Given the description of an element on the screen output the (x, y) to click on. 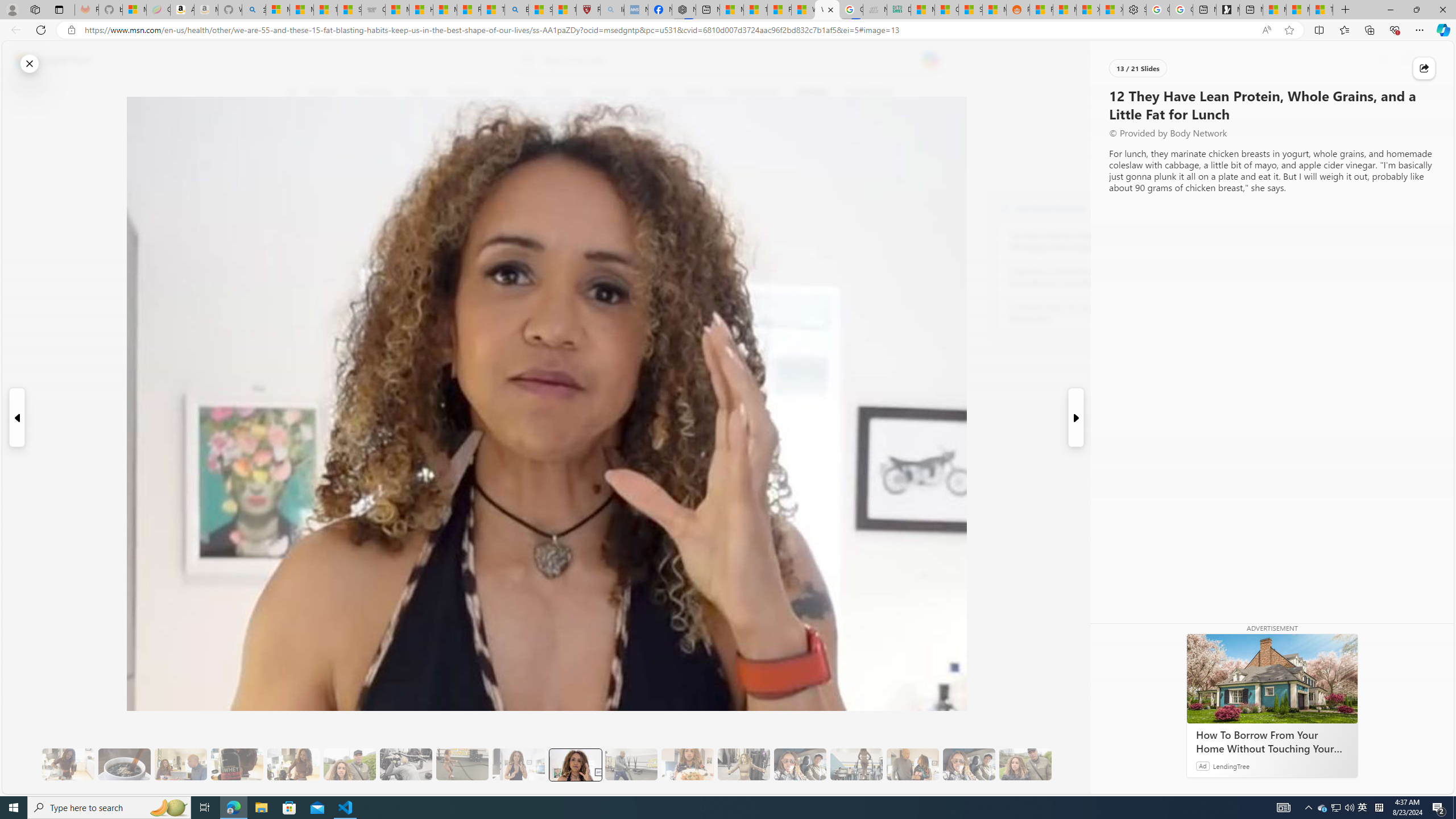
18 It's More Fun Doing It with Someone Else (912, 764)
16 The Couple's Program Helps with Accountability (800, 764)
16 The Couple's Program Helps with Accountability (800, 764)
6 Like (299, 138)
World News (468, 92)
Politics (698, 92)
11 They Eat More Protein for Breakfast (518, 764)
